Given the description of an element on the screen output the (x, y) to click on. 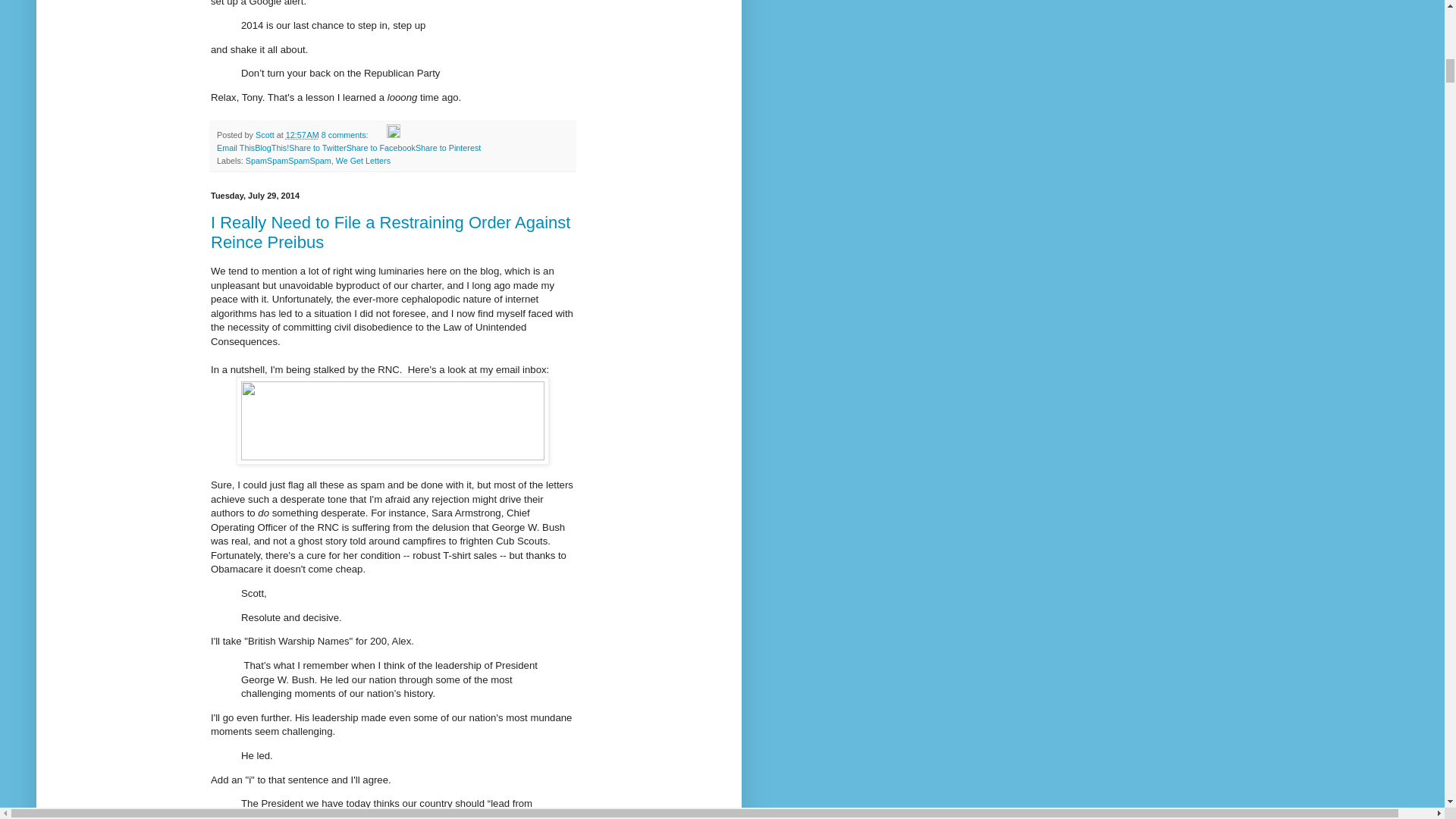
author profile (266, 134)
Email Post (379, 134)
BlogThis! (271, 147)
Scott (266, 134)
Share to Pinterest (447, 147)
SpamSpamSpamSpam (288, 160)
We Get Letters (363, 160)
Email This (235, 147)
permanent link (301, 134)
Share to Facebook (380, 147)
Email This (235, 147)
Share to Twitter (317, 147)
Share to Facebook (380, 147)
